Given the description of an element on the screen output the (x, y) to click on. 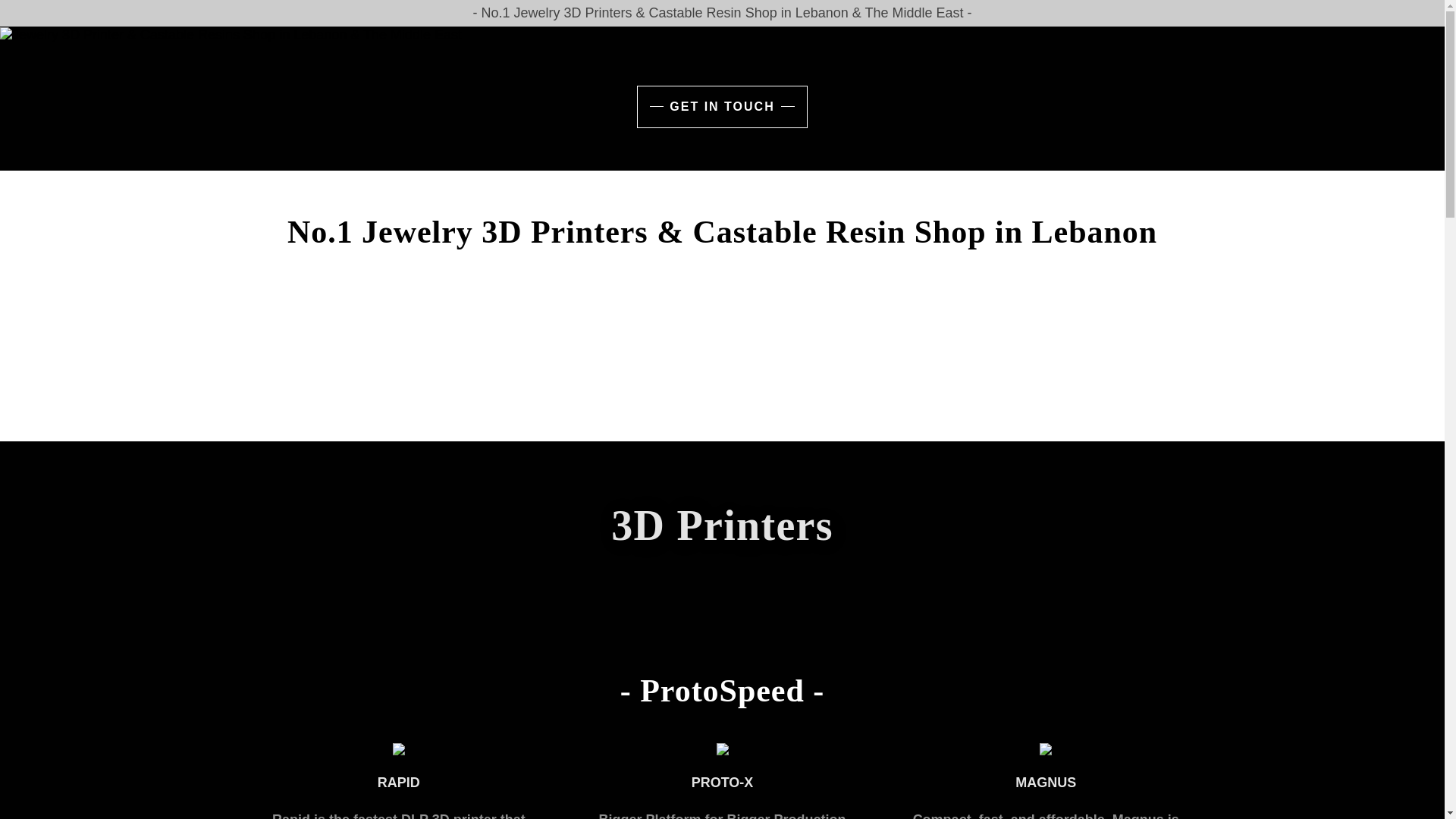
GET IN TOUCH Element type: text (721, 106)
